Given the description of an element on the screen output the (x, y) to click on. 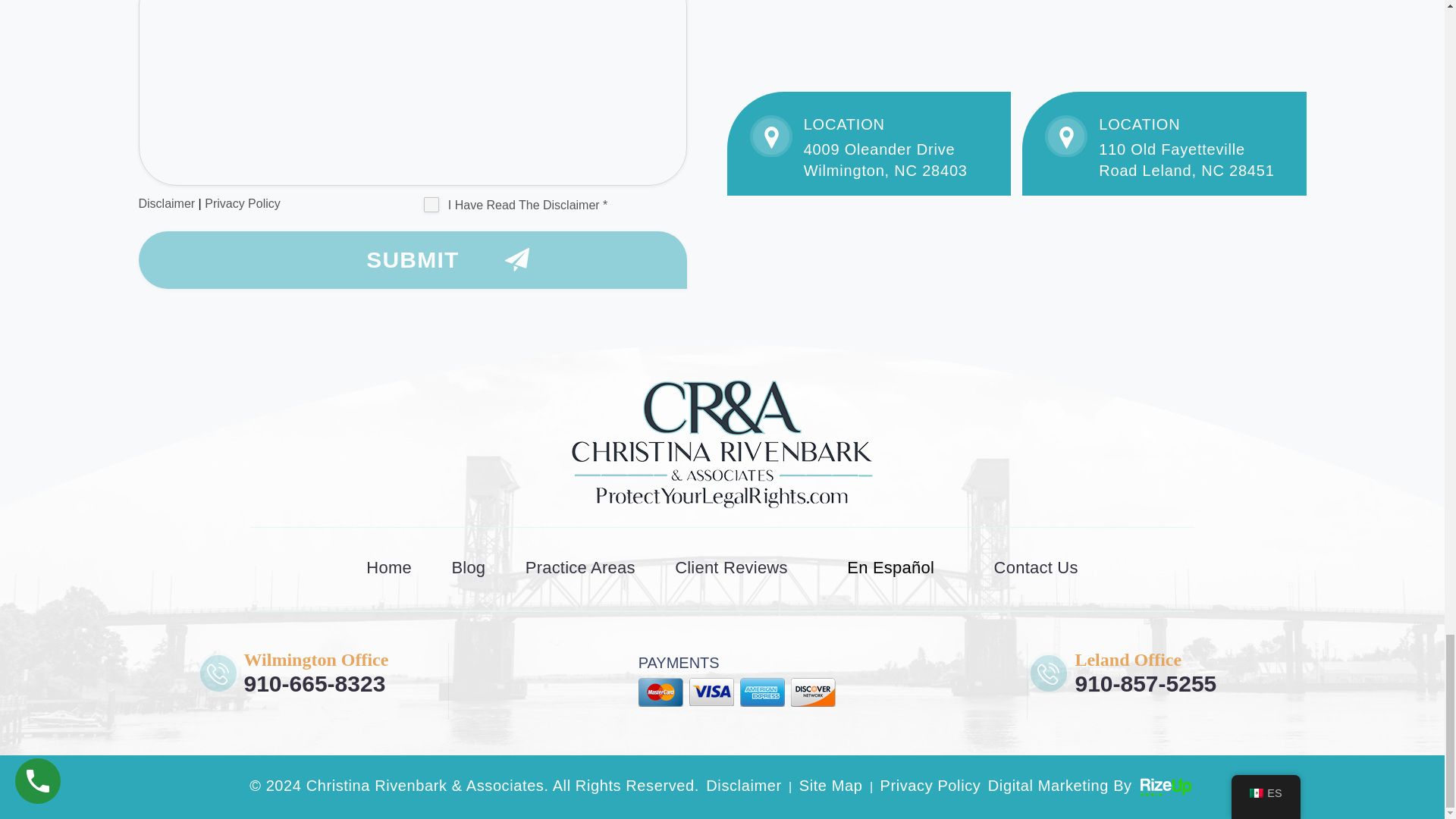
Submit (412, 259)
